Given the description of an element on the screen output the (x, y) to click on. 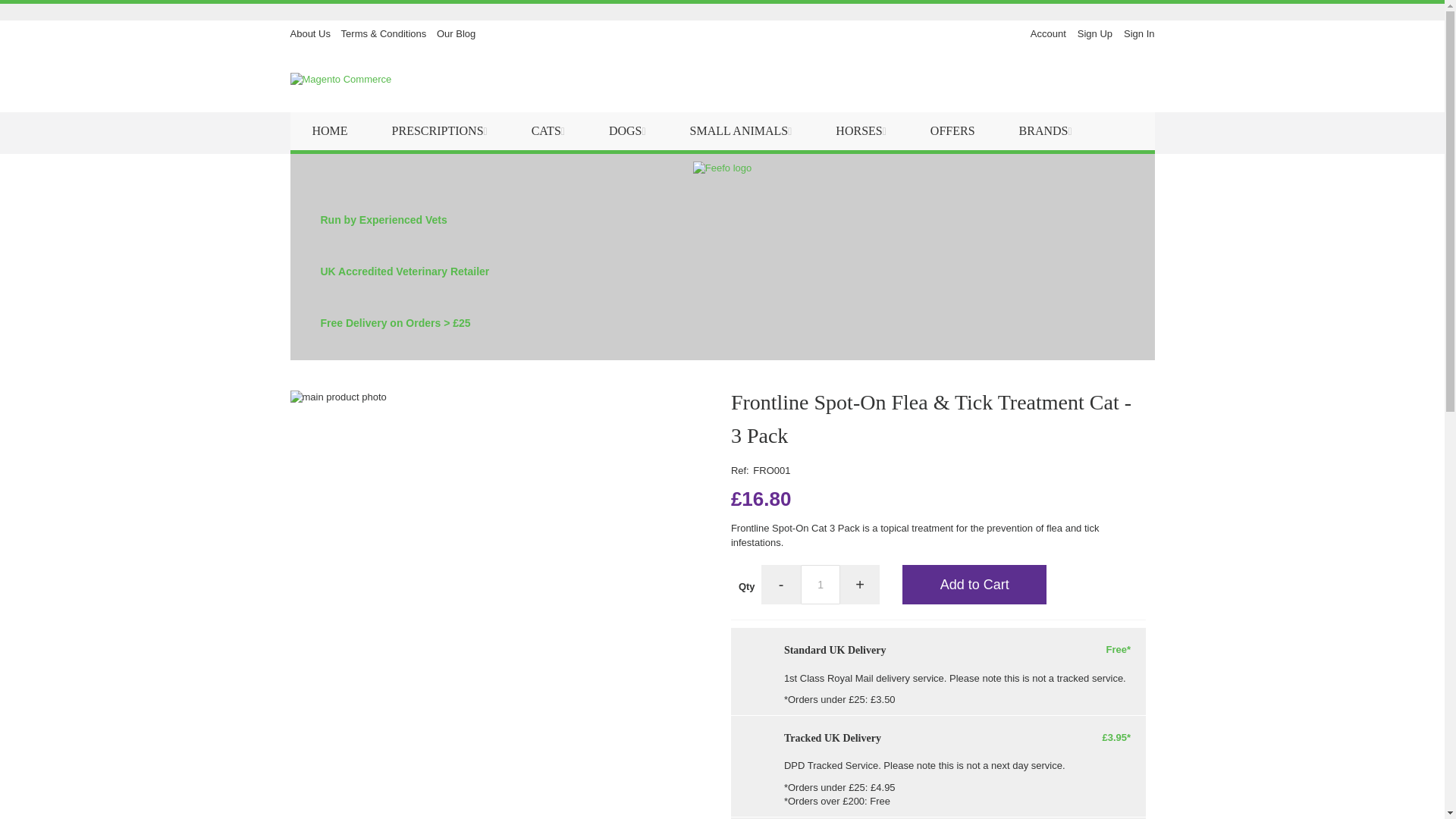
Qty (820, 584)
HOME (329, 130)
PRESCRIPTIONS (439, 130)
CATS (547, 130)
Our Blog (456, 33)
Sign In (1139, 33)
Add to Cart (974, 584)
Our customer Feefo rating (722, 168)
Sign Up (1094, 33)
Magento Commerce (365, 79)
